Given the description of an element on the screen output the (x, y) to click on. 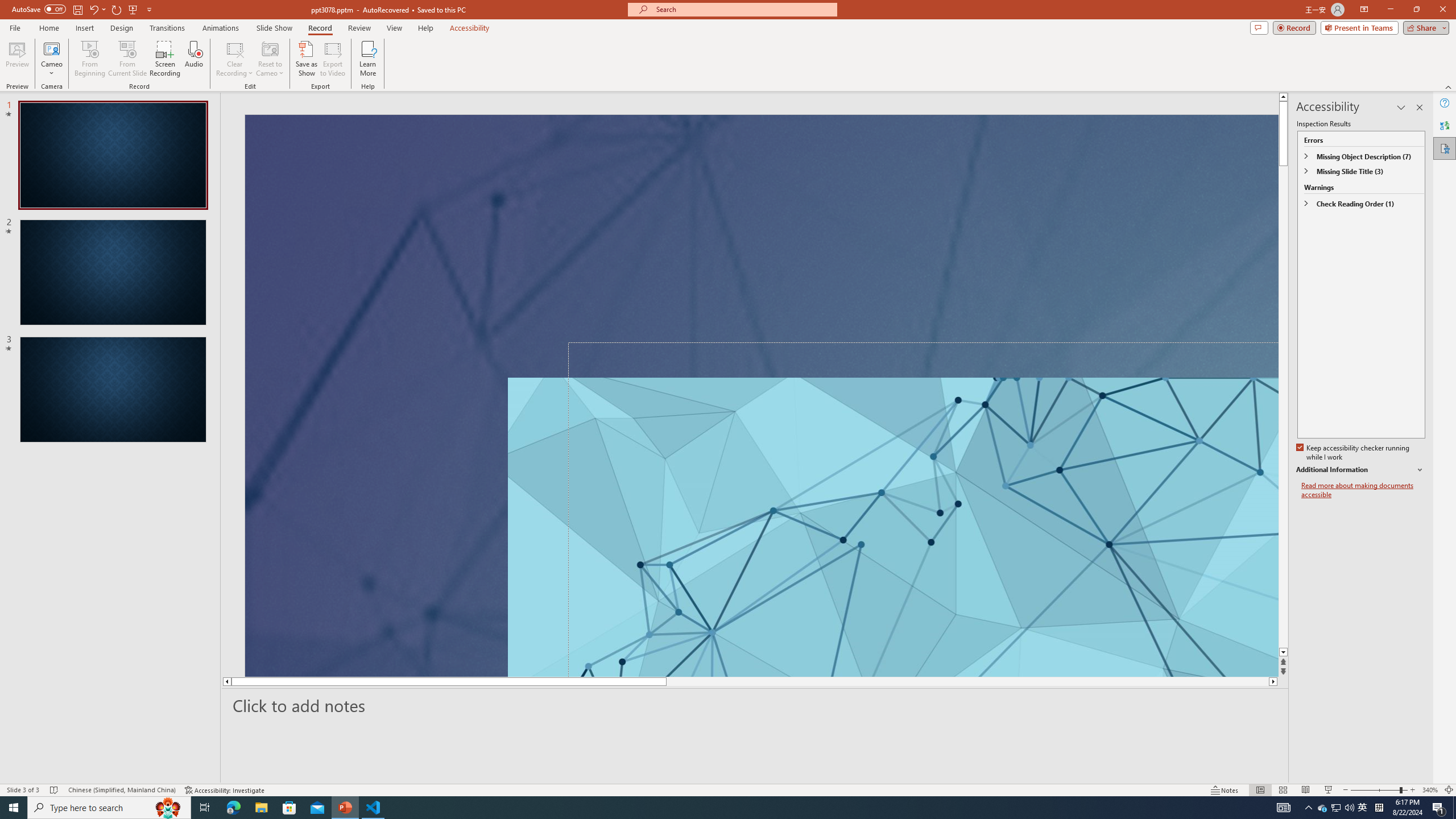
An abstract genetic concept (761, 395)
